Given the description of an element on the screen output the (x, y) to click on. 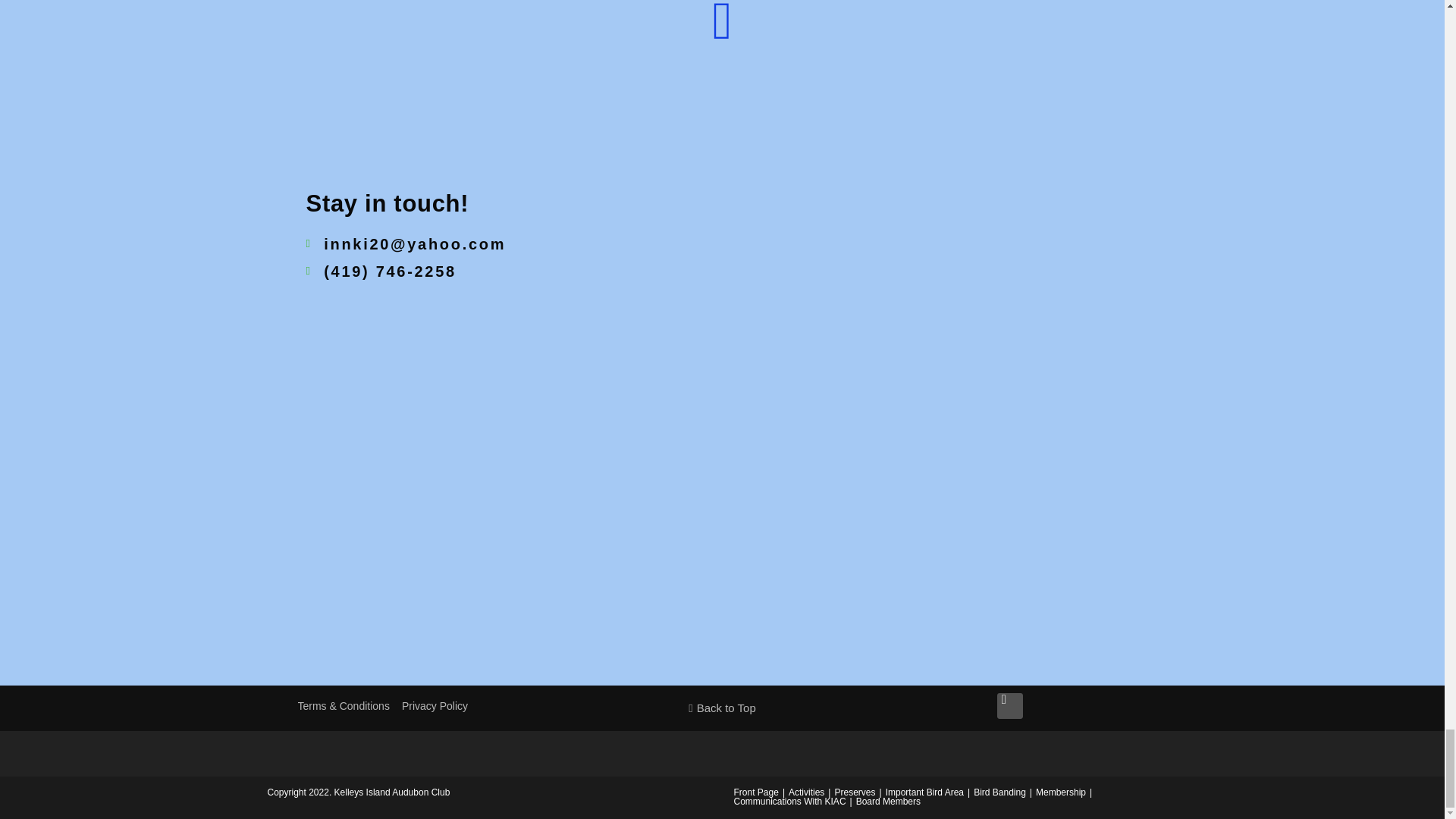
Communications With KIAC (789, 801)
Board Members (888, 801)
Important Bird Area (924, 792)
Activities (806, 792)
Front Page (755, 792)
Back to Top (721, 707)
Membership (1060, 792)
Bird Banding (1000, 792)
Preserves (854, 792)
